Given the description of an element on the screen output the (x, y) to click on. 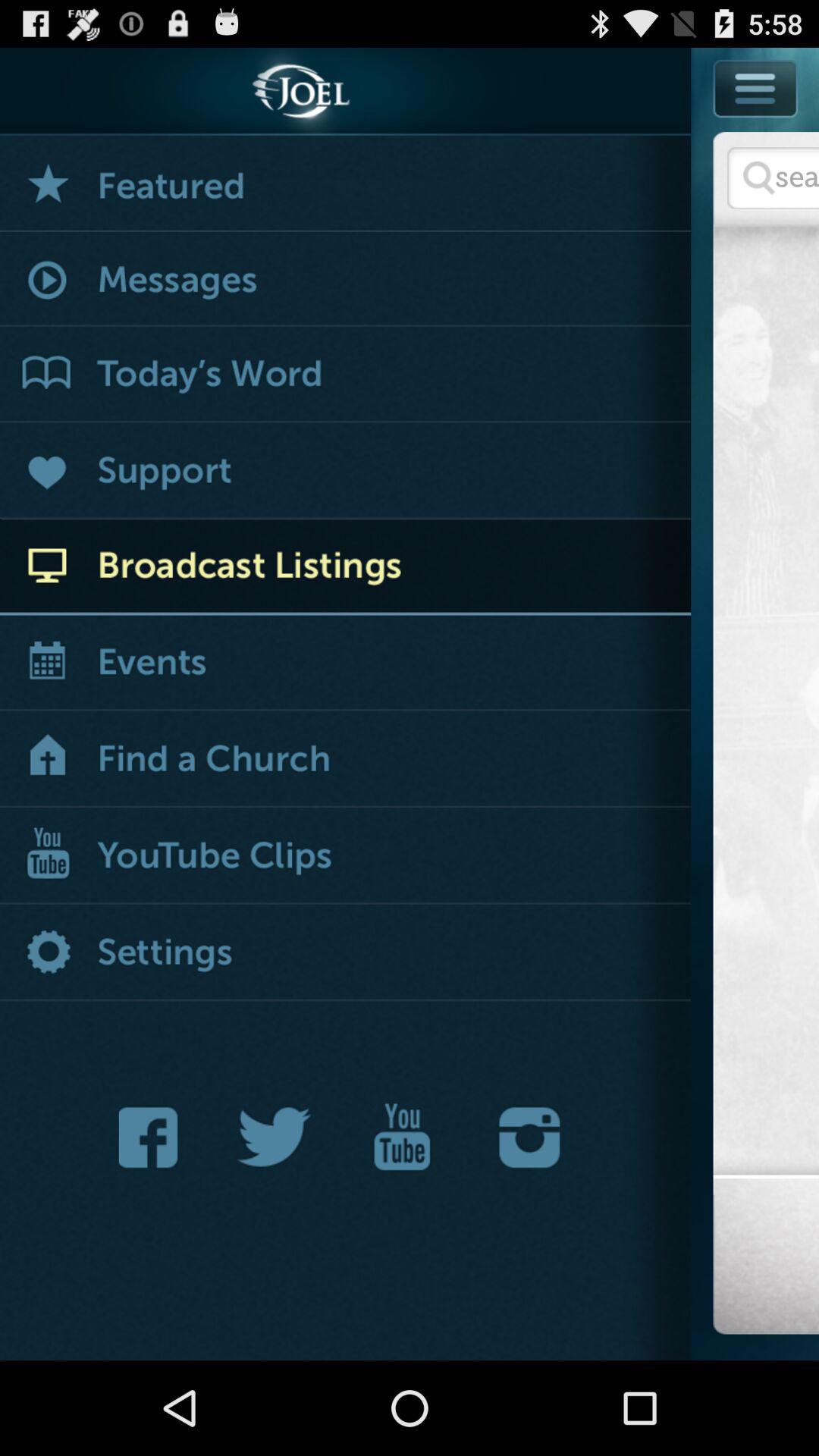
click on events tab (345, 663)
